Given the description of an element on the screen output the (x, y) to click on. 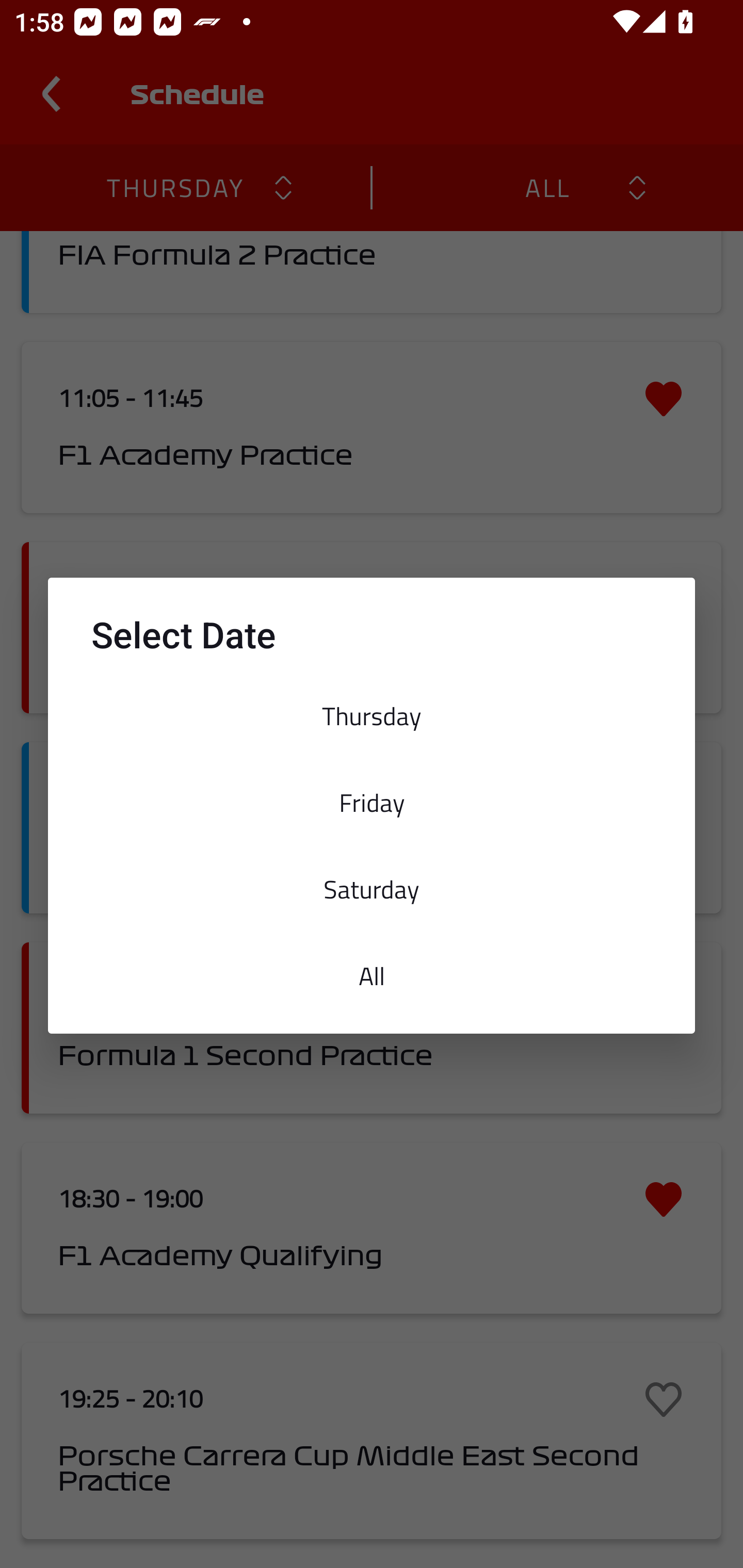
Thursday (371, 715)
Friday (371, 801)
Saturday (371, 888)
All (371, 975)
